Given the description of an element on the screen output the (x, y) to click on. 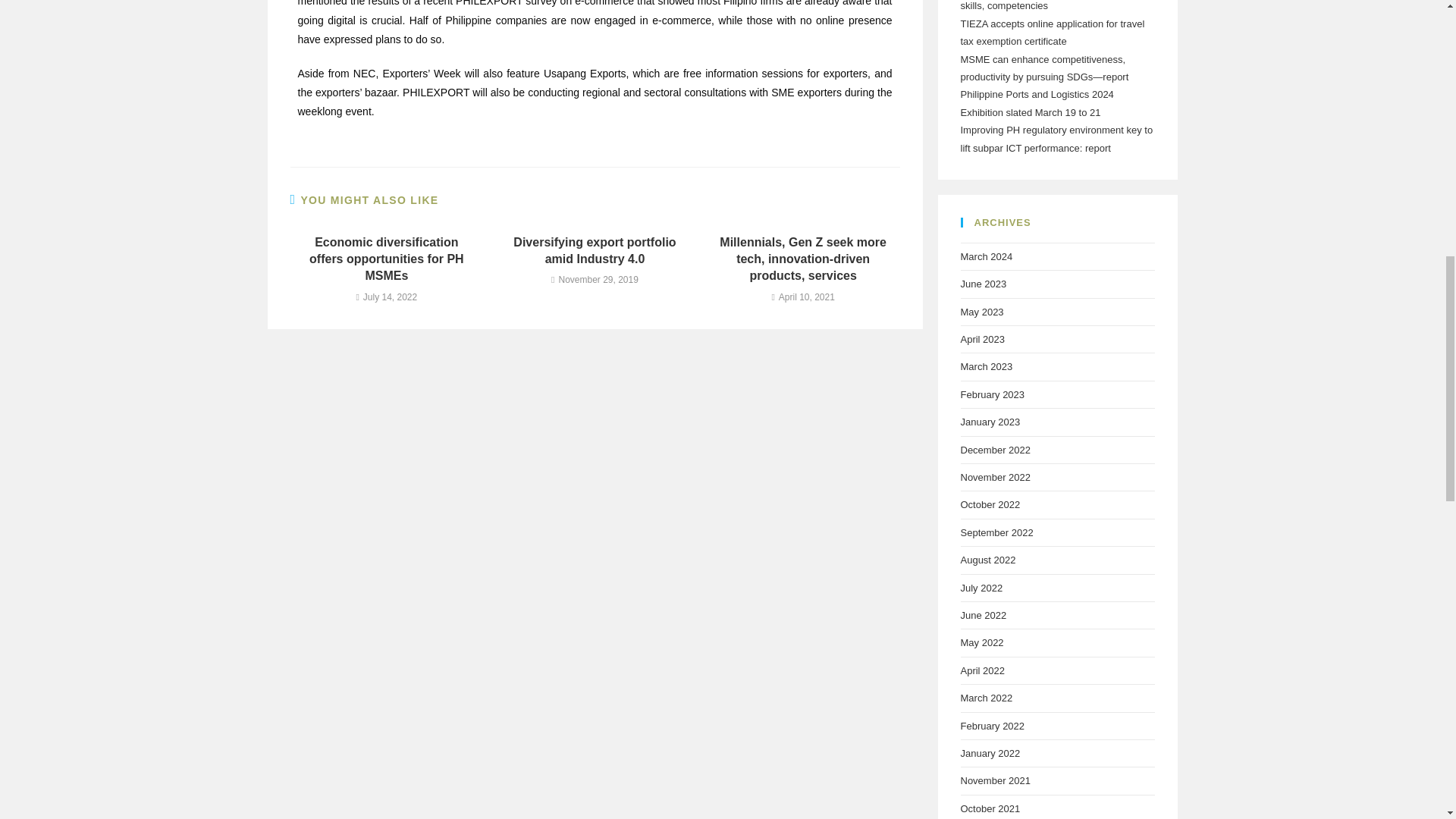
Economic diversification offers opportunities for PH MSMEs (386, 259)
Diversifying export portfolio amid Industry 4.0 (594, 251)
